Given the description of an element on the screen output the (x, y) to click on. 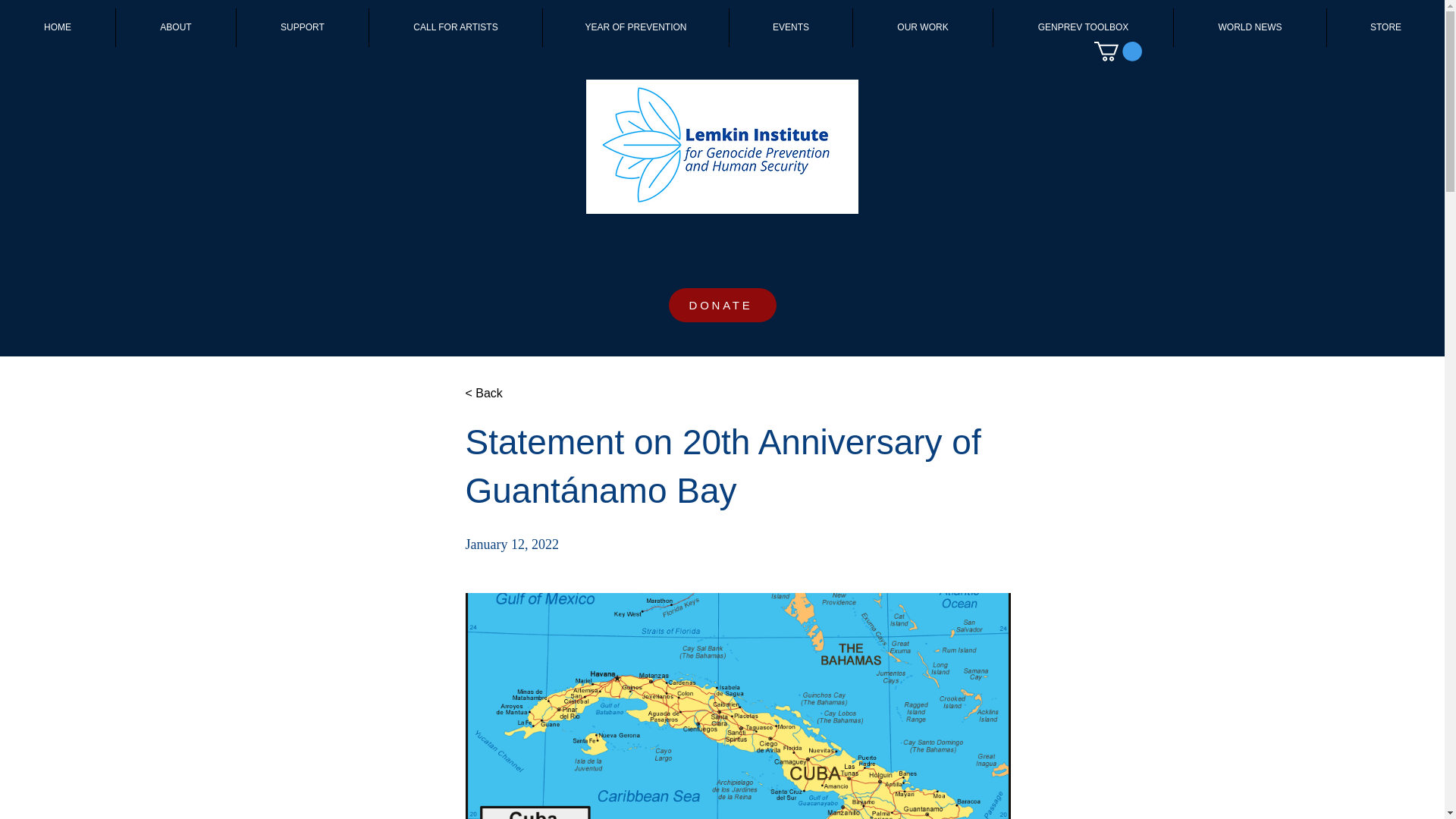
YEAR OF PREVENTION (636, 27)
DONATE (722, 305)
EVENTS (790, 27)
SUPPORT (301, 27)
Lemkin Institute map of cuba.gif (737, 705)
HOME (57, 27)
CALL FOR ARTISTS (455, 27)
